Given the description of an element on the screen output the (x, y) to click on. 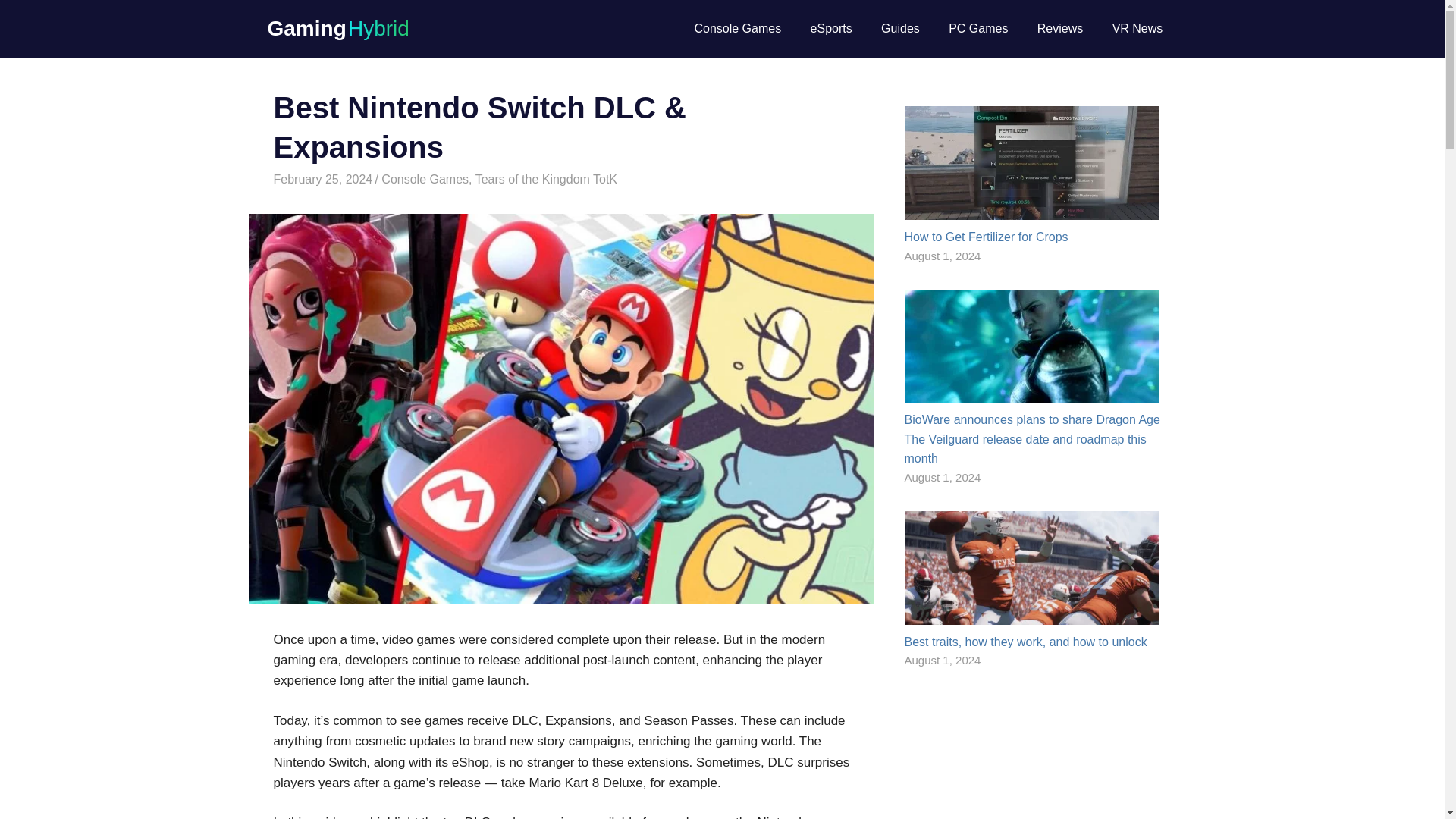
Guides (900, 28)
VR News (1136, 28)
February 25, 2024 (322, 178)
Reviews (1060, 28)
GamingHybrid (416, 178)
Best traits, how they work, and how to unlock (1025, 641)
11:38 am (322, 178)
Tears of the Kingdom TotK (546, 178)
eSports (830, 28)
How to Get Fertilizer for Crops (985, 236)
Console Games (736, 28)
View all posts by GamingHybrid (416, 178)
Gaming Hybrid (337, 28)
